Given the description of an element on the screen output the (x, y) to click on. 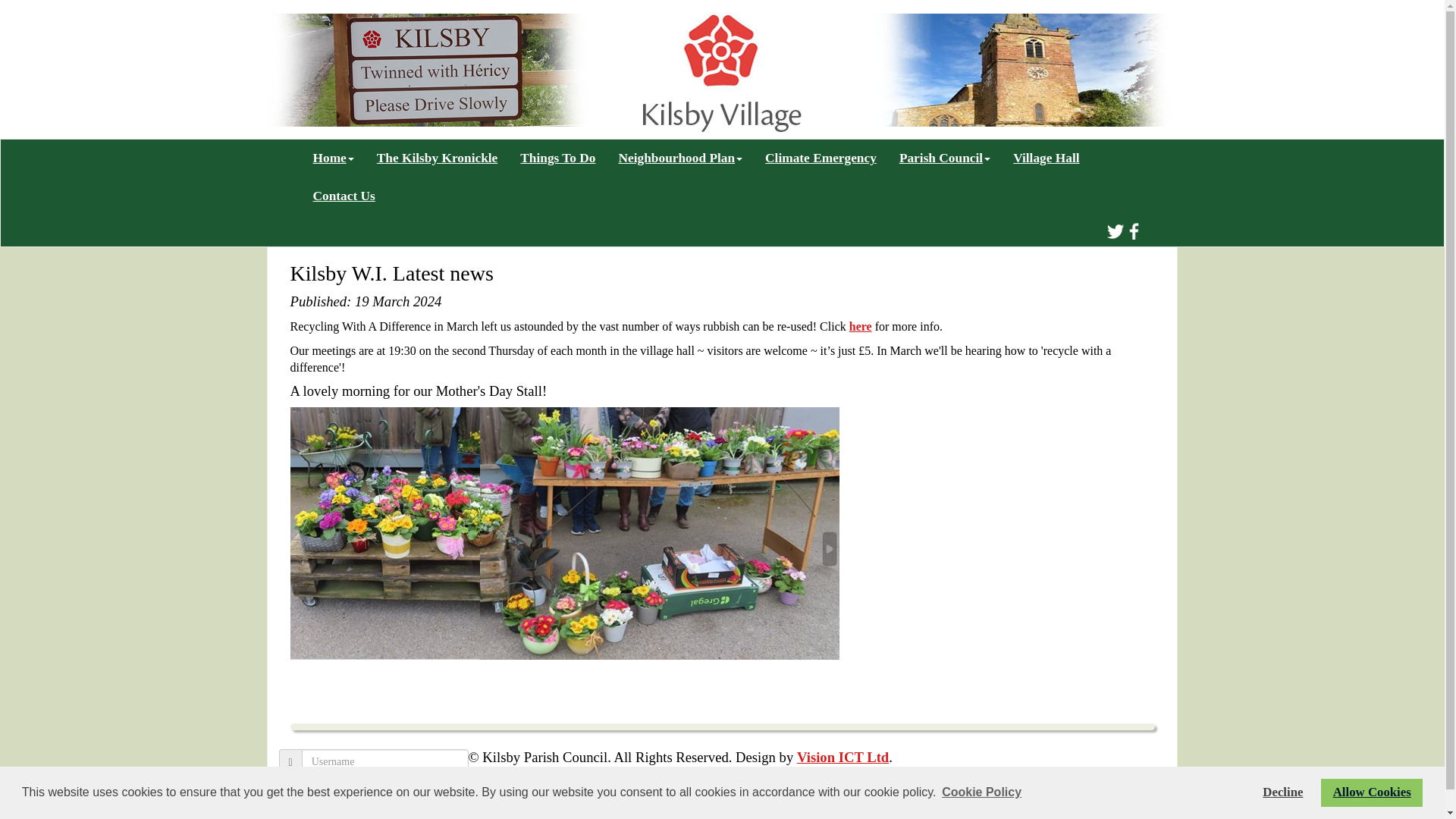
here (860, 326)
Allow Cookies (1371, 792)
Vision ICT (842, 756)
Cookie Policy (981, 792)
The Kilsby Kronickle (437, 158)
Decline (1282, 792)
Contact Us (344, 196)
Vision ICT Ltd (842, 756)
Neighbourhood Plan (680, 158)
Home (333, 158)
Climate Emergency (821, 158)
Password (384, 787)
User Name (384, 761)
Parish Council (944, 158)
Village Hall (1045, 158)
